Given the description of an element on the screen output the (x, y) to click on. 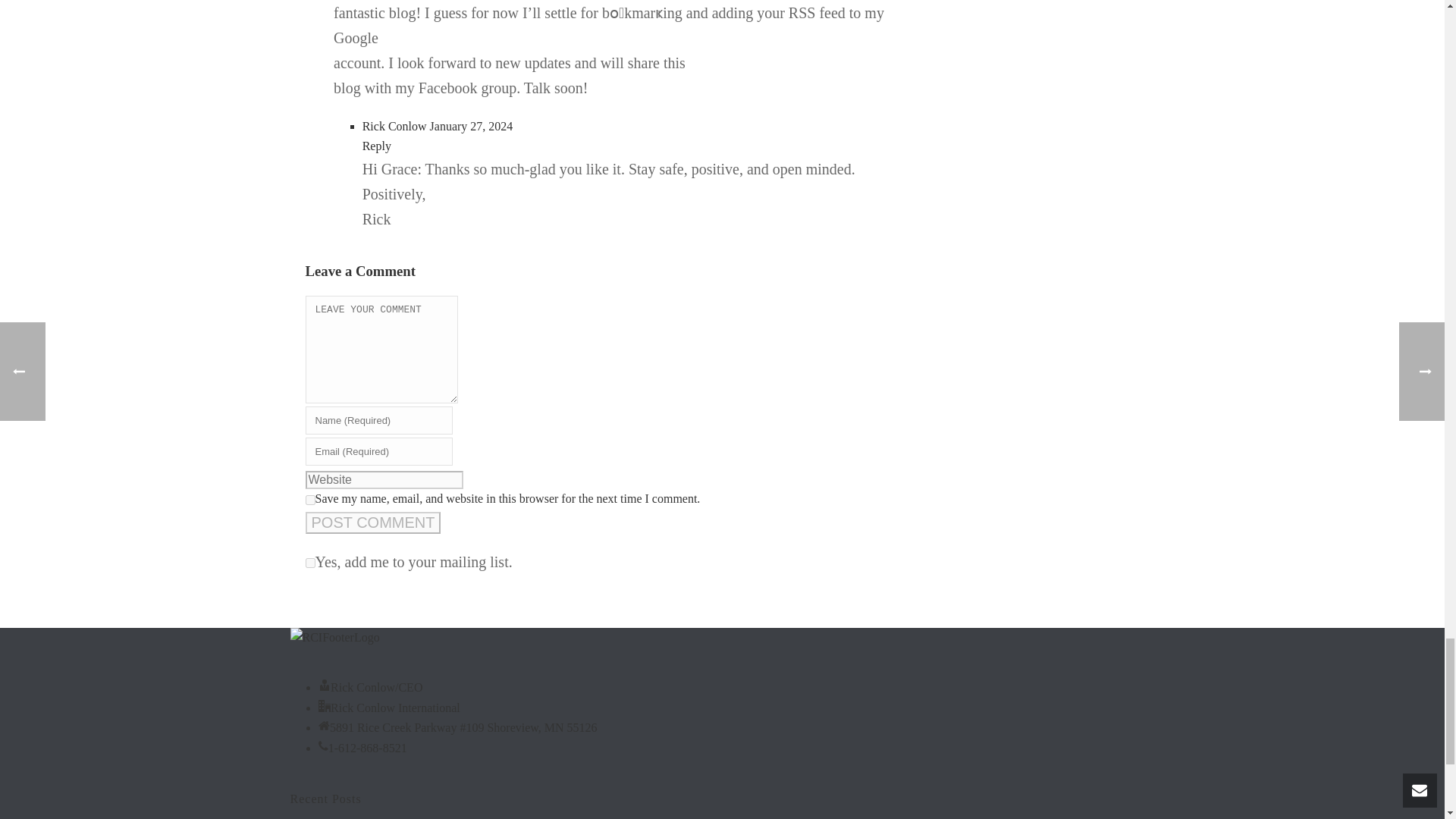
1 (309, 562)
yes (309, 500)
POST COMMENT (372, 522)
